Given the description of an element on the screen output the (x, y) to click on. 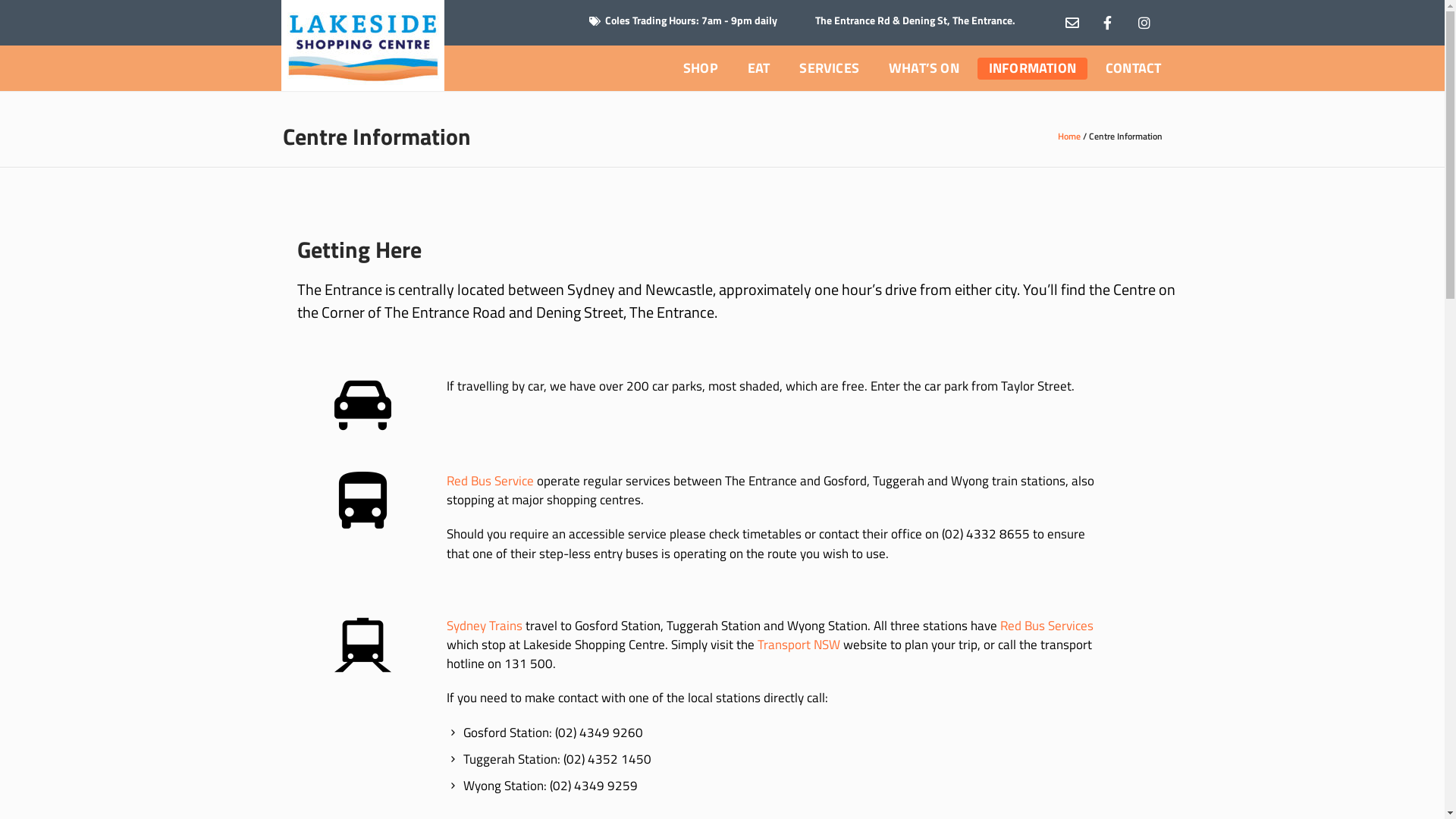
EAT Element type: text (758, 68)
INFORMATION Element type: text (1032, 68)
Transport NSW Element type: text (798, 644)
Sydney Trains Element type: text (484, 625)
Red Bus Service Element type: text (489, 480)
Red Bus Services Element type: text (1046, 625)
SHOP Element type: text (700, 68)
CONTACT Element type: text (1133, 68)
SERVICES Element type: text (828, 68)
Home Element type: text (1068, 135)
